Given the description of an element on the screen output the (x, y) to click on. 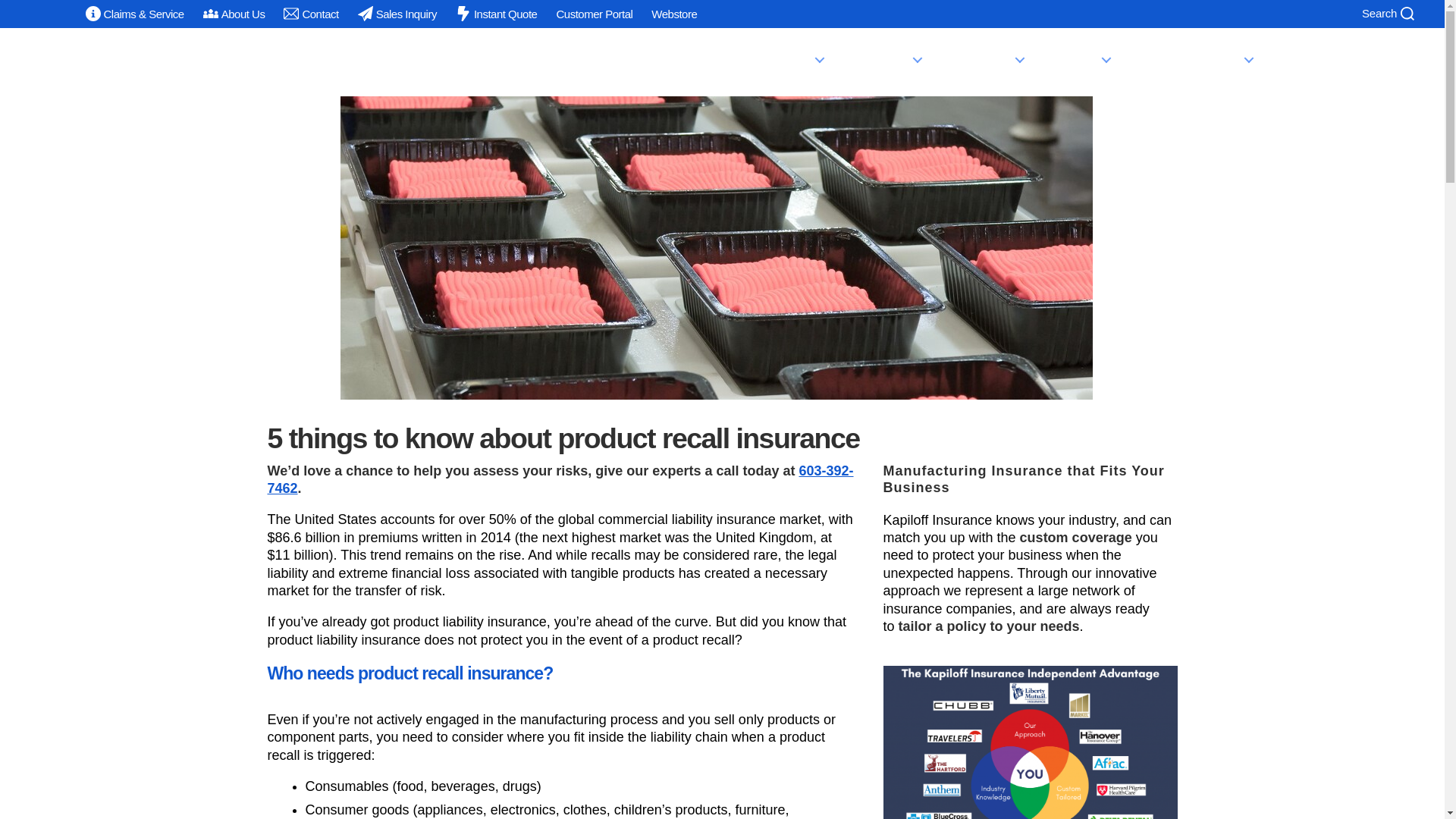
Webstore (673, 14)
About Us (233, 14)
Sales Inquiry (397, 14)
Instant Quote (496, 14)
Health (1084, 58)
Business (787, 58)
Search (989, 58)
Contact (1386, 15)
Customer Portal (310, 14)
